Given the description of an element on the screen output the (x, y) to click on. 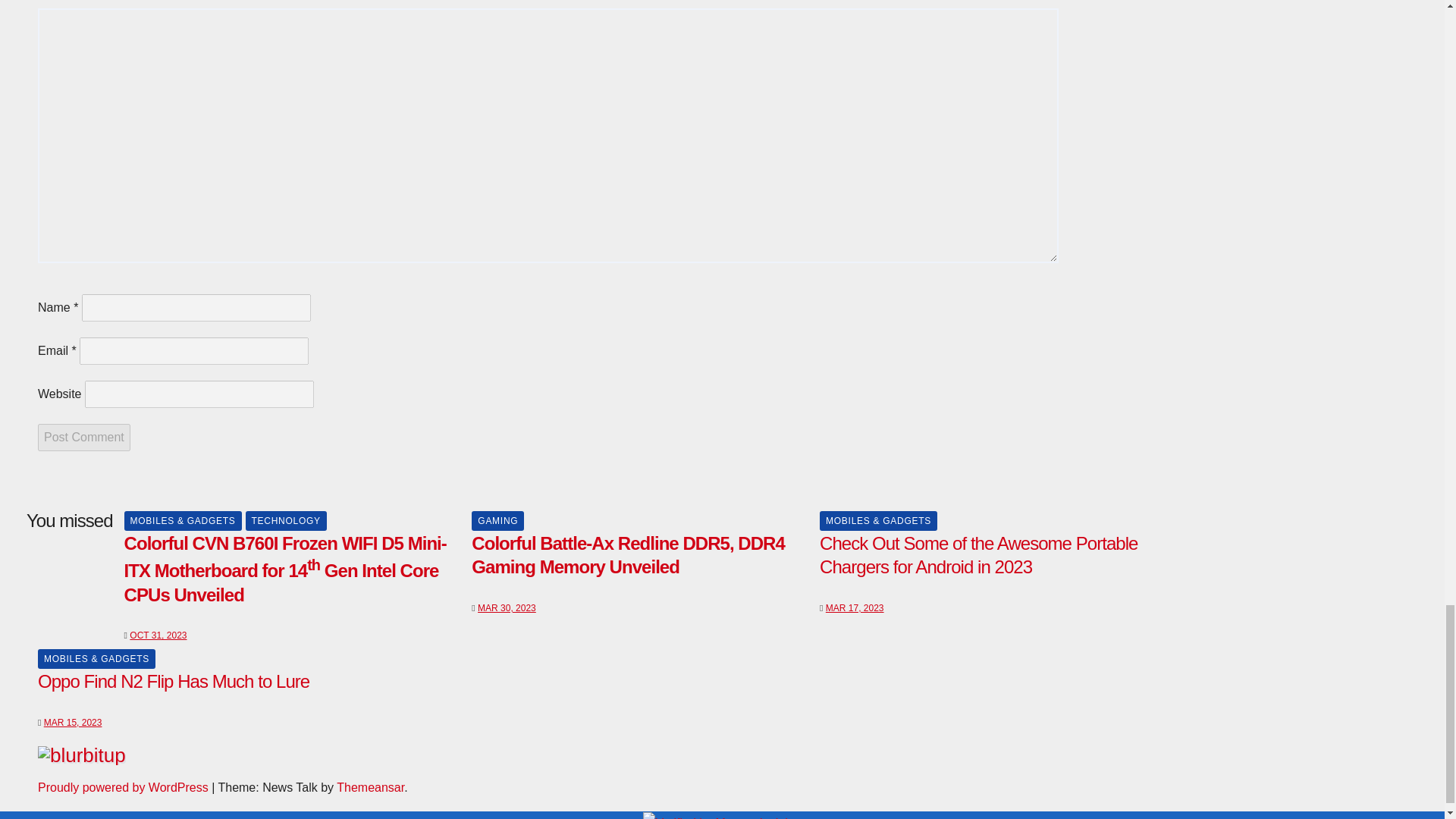
Post Comment (84, 437)
Permalink to: Oppo Find N2 Flip Has Much to Lure (172, 680)
